Given the description of an element on the screen output the (x, y) to click on. 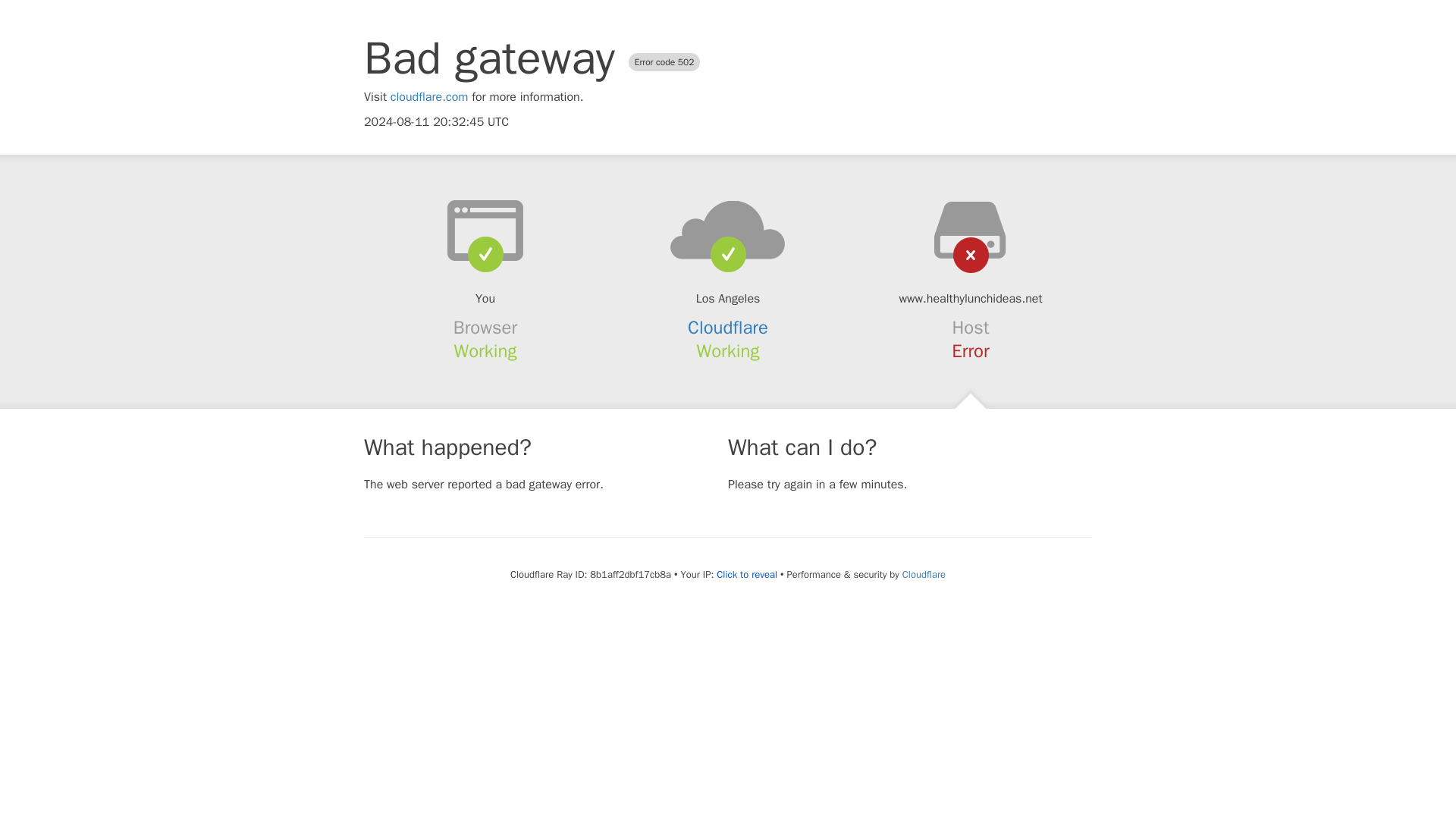
Cloudflare (727, 327)
Cloudflare (923, 574)
cloudflare.com (429, 96)
Click to reveal (746, 574)
